Given the description of an element on the screen output the (x, y) to click on. 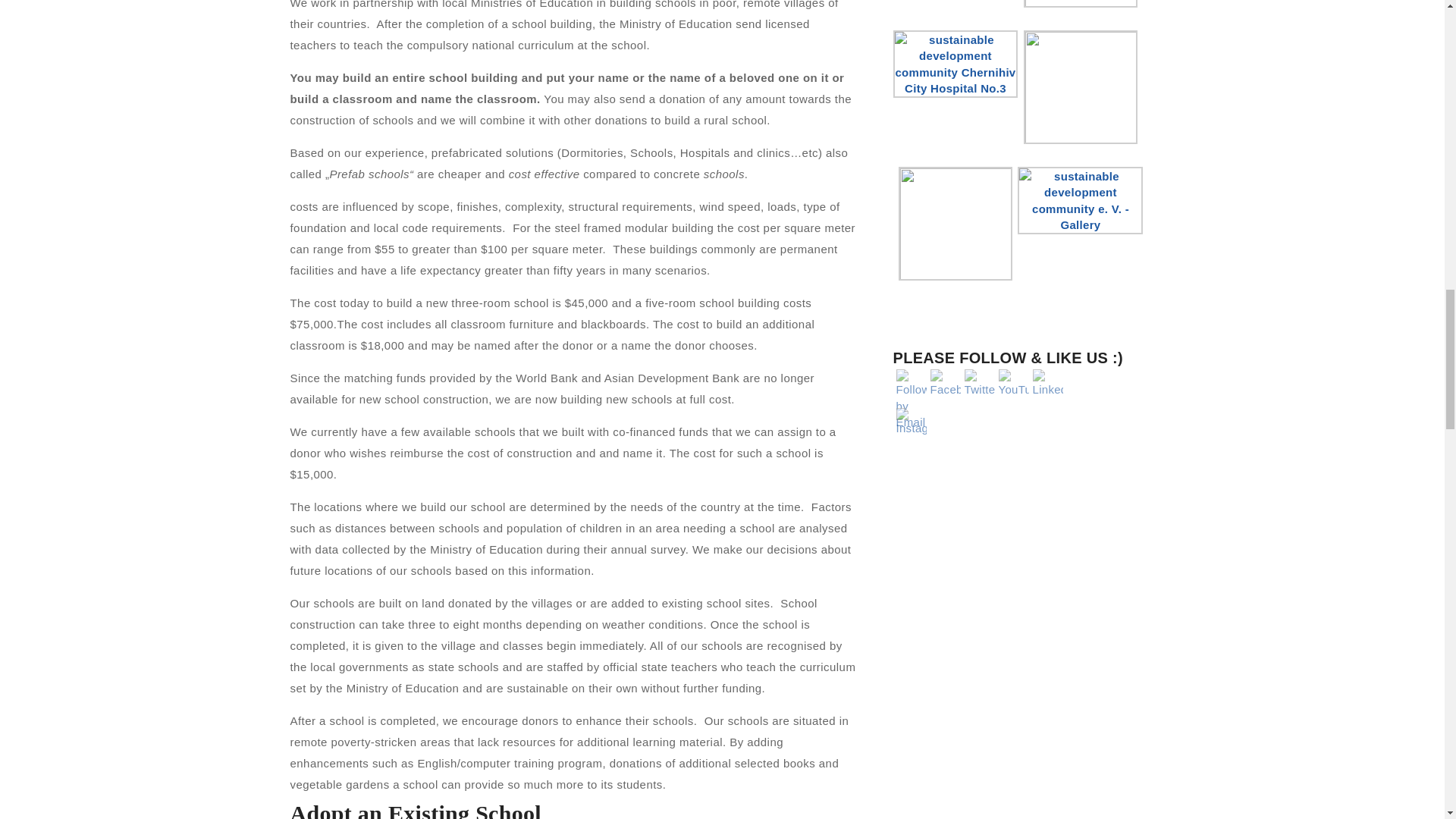
YouTube (1012, 383)
Facebook (944, 383)
LinkedIn (1047, 383)
Twitter (978, 383)
Instagram (911, 421)
